Given the description of an element on the screen output the (x, y) to click on. 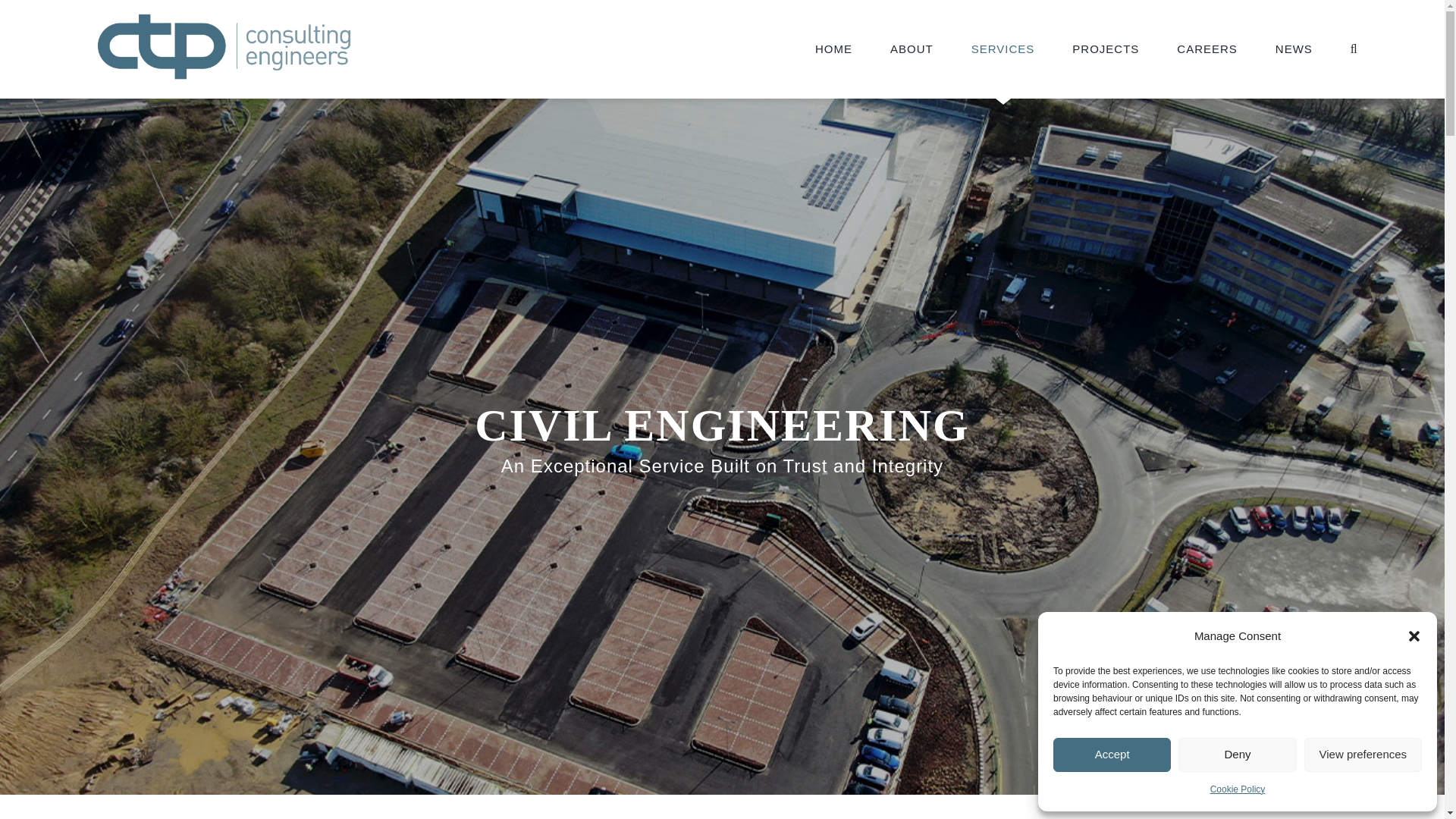
Cookie Policy (1237, 789)
View preferences (1363, 754)
Deny (1236, 754)
Accept (1111, 754)
